Given the description of an element on the screen output the (x, y) to click on. 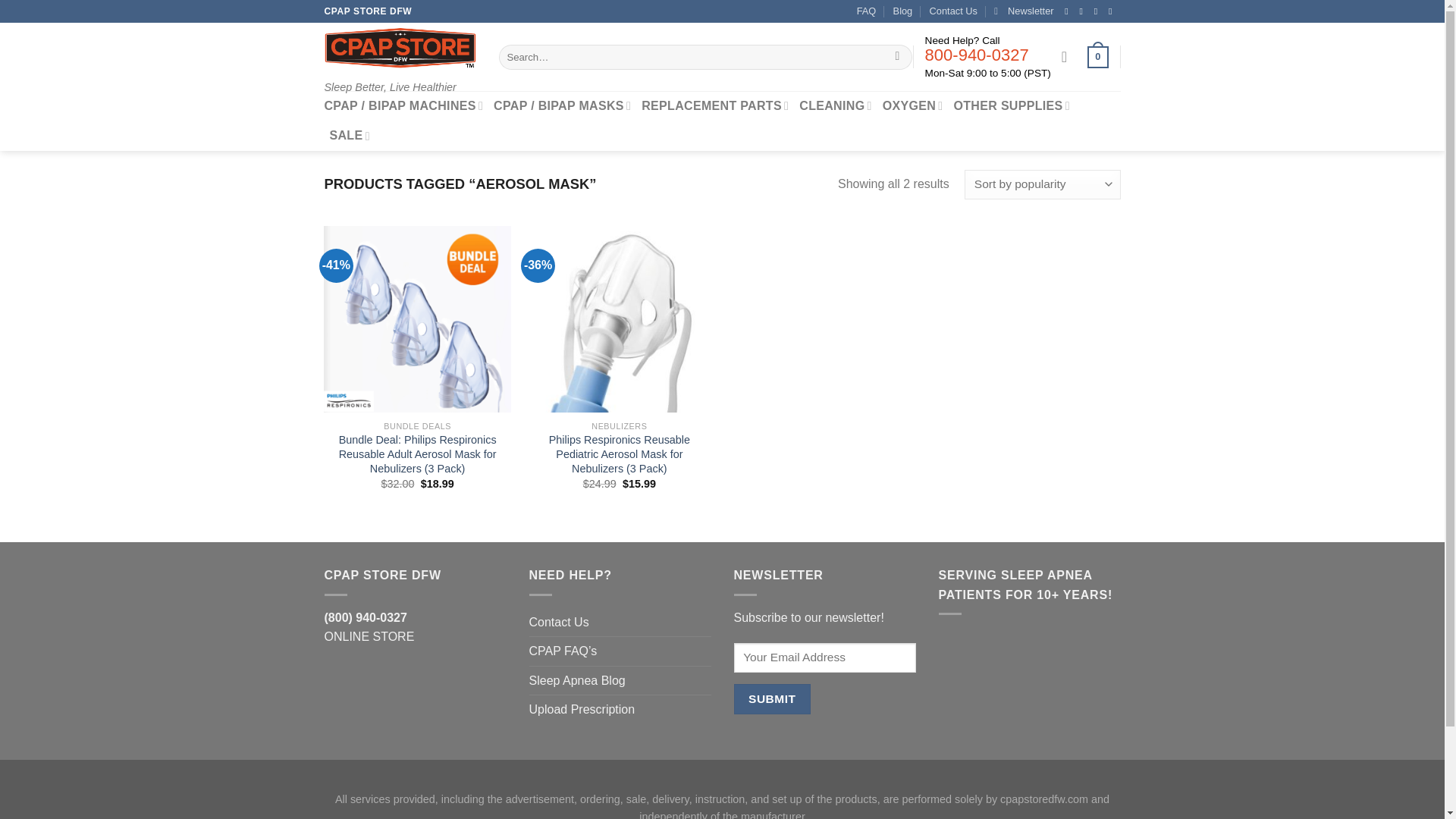
REPLACEMENT PARTS (715, 105)
Newsletter (1023, 11)
Search (897, 57)
Contact Us (953, 11)
Sign up for our Newsletter (1023, 11)
CPAP Store DFW - Sleep Better, Live Healthier (400, 47)
Submit (771, 698)
